Given the description of an element on the screen output the (x, y) to click on. 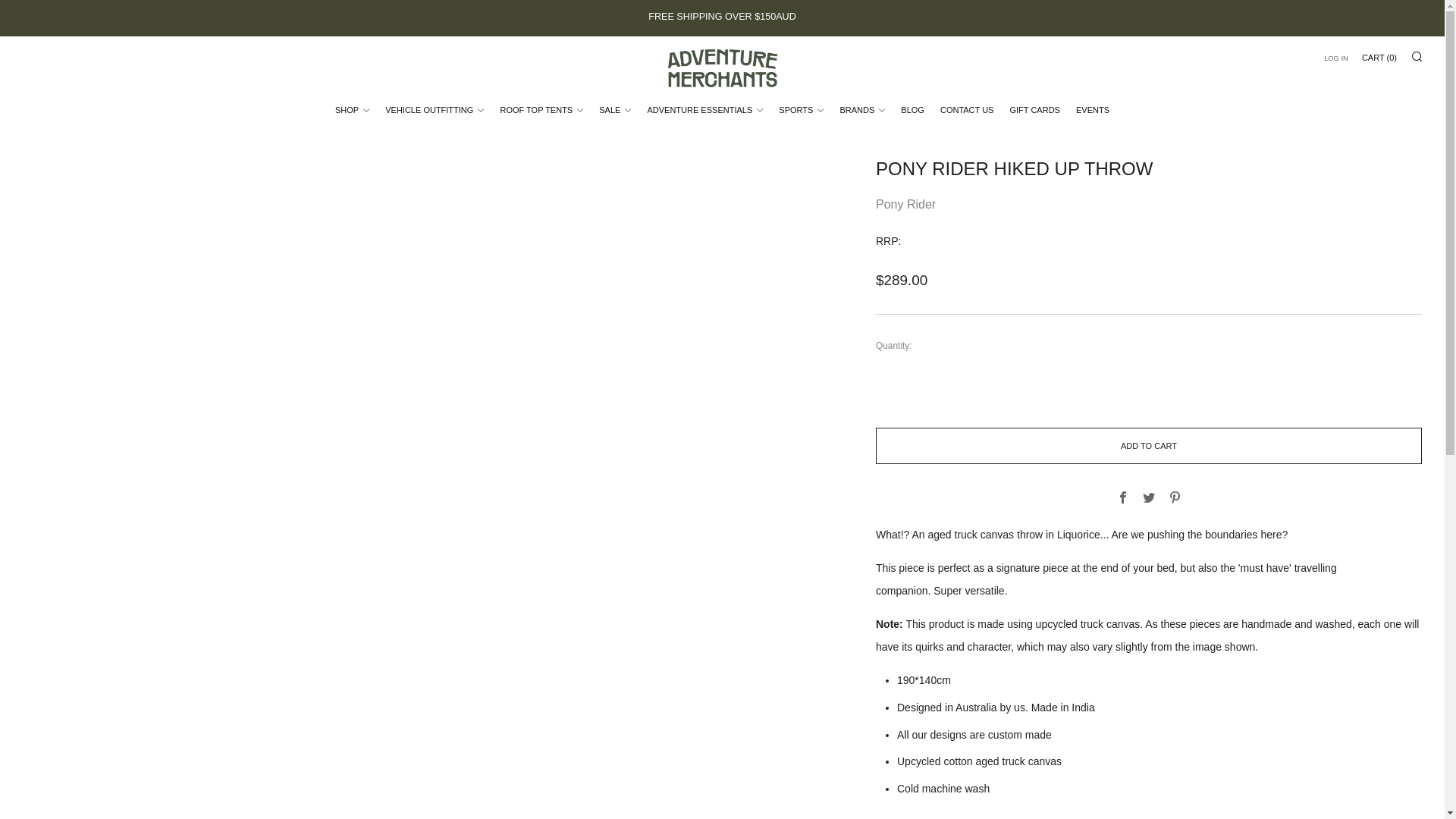
Pony Rider (906, 204)
